Given the description of an element on the screen output the (x, y) to click on. 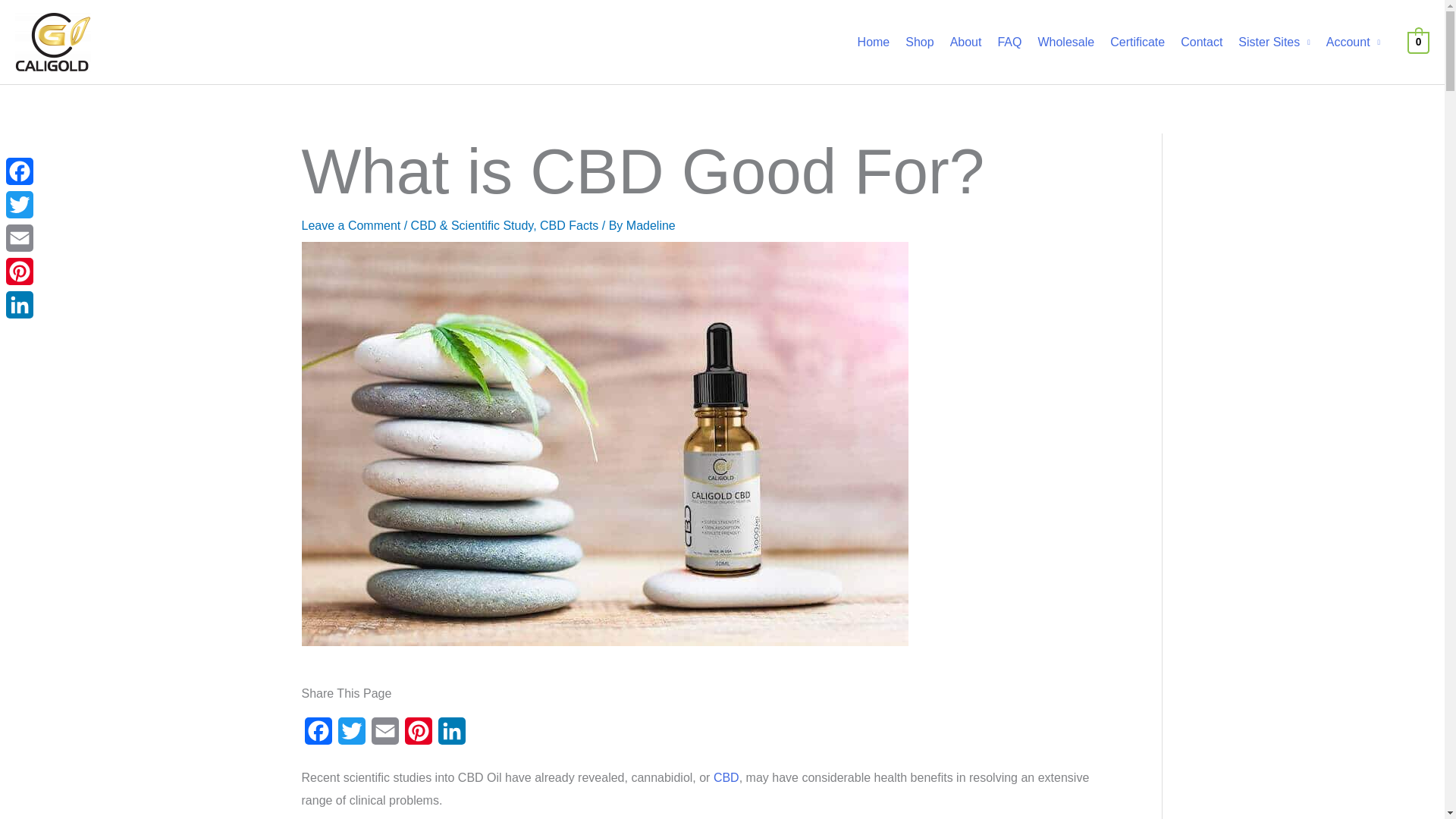
0 (1418, 41)
Wholesale (1069, 41)
Contact (1205, 41)
Home (877, 41)
CBD Facts (569, 225)
Twitter (351, 735)
Twitter (351, 735)
Pinterest (418, 735)
Madeline (650, 225)
Sister Sites (1278, 41)
LinkedIn (451, 735)
